Given the description of an element on the screen output the (x, y) to click on. 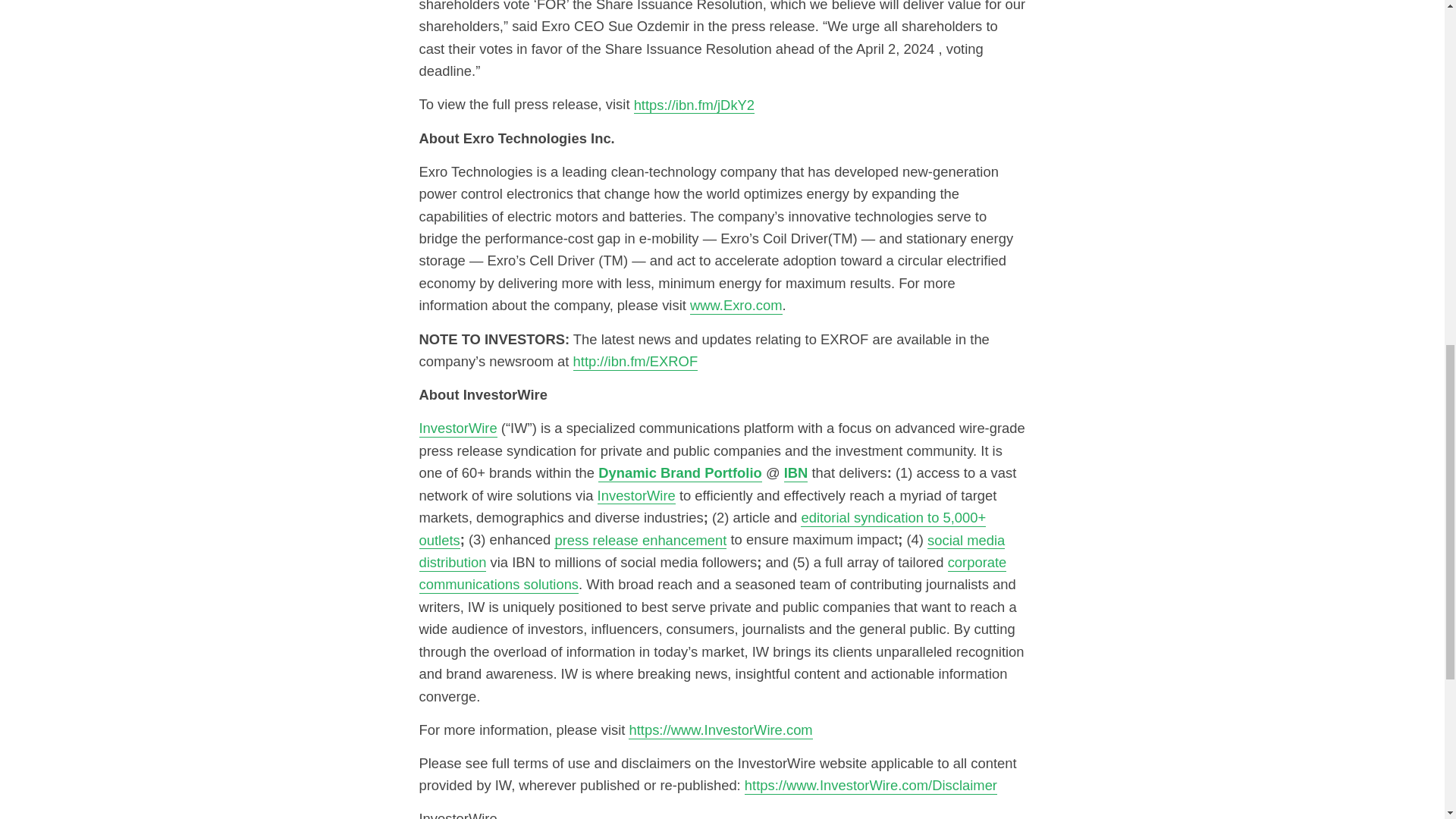
www.Exro.com (736, 304)
IBN (796, 472)
InvestorWire (635, 495)
InvestorWire (457, 427)
press release enhancement (640, 539)
social media distribution (711, 550)
Dynamic Brand Portfolio (679, 472)
corporate communications solutions (712, 572)
